Given the description of an element on the screen output the (x, y) to click on. 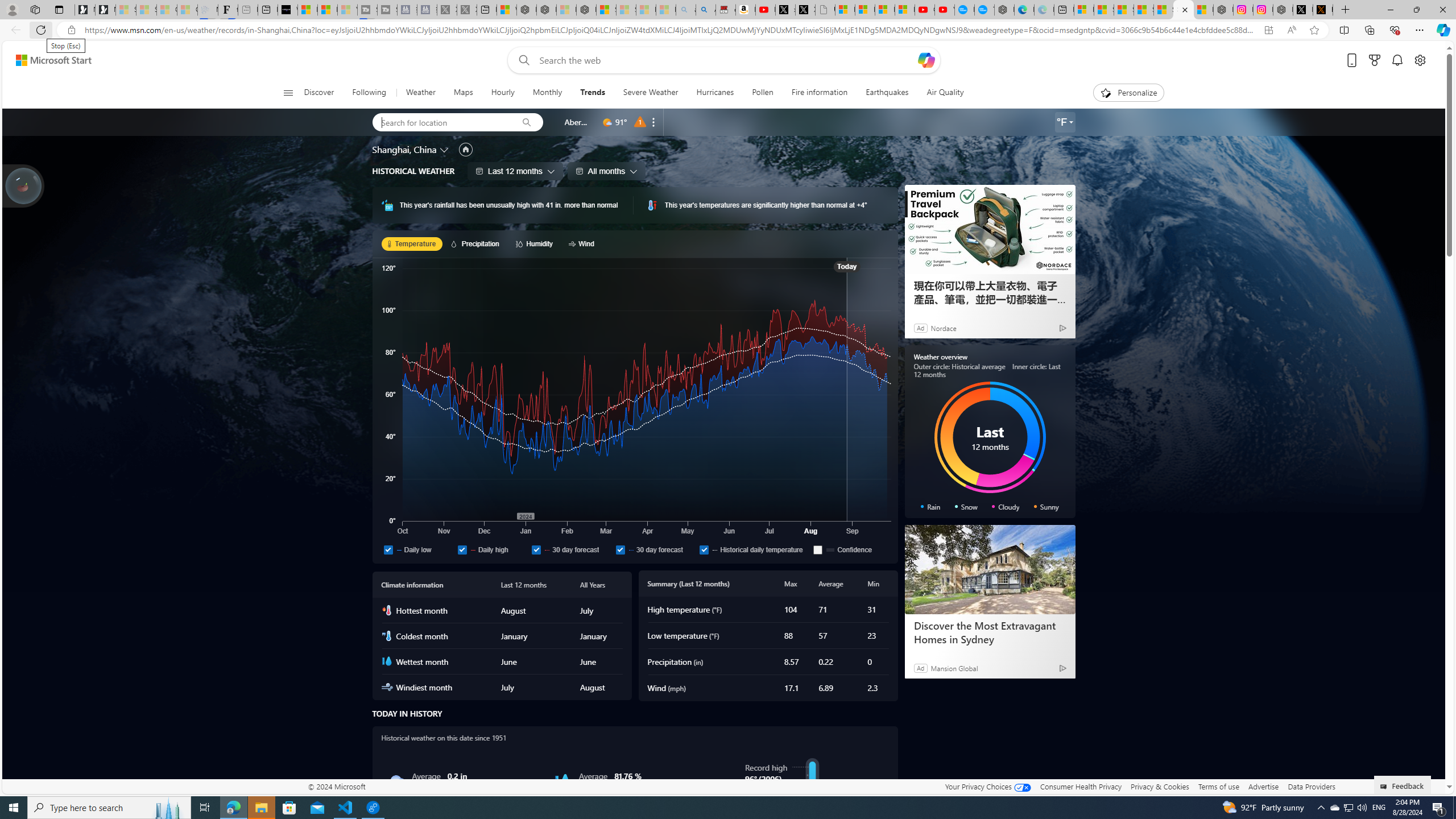
Newsletter Sign Up (105, 9)
Consumer Health Privacy (1080, 785)
Streaming Coverage | T3 - Sleeping (366, 9)
Add this page to favorites (Ctrl+D) (1314, 29)
Daily high (492, 549)
Fire information (818, 92)
Microsoft Start (327, 9)
Humidity (536, 243)
Microsoft account | Microsoft Account Privacy Settings (1083, 9)
Search for location (440, 122)
Maps (462, 92)
X - Sleeping (466, 9)
Open navigation menu (287, 92)
